Given the description of an element on the screen output the (x, y) to click on. 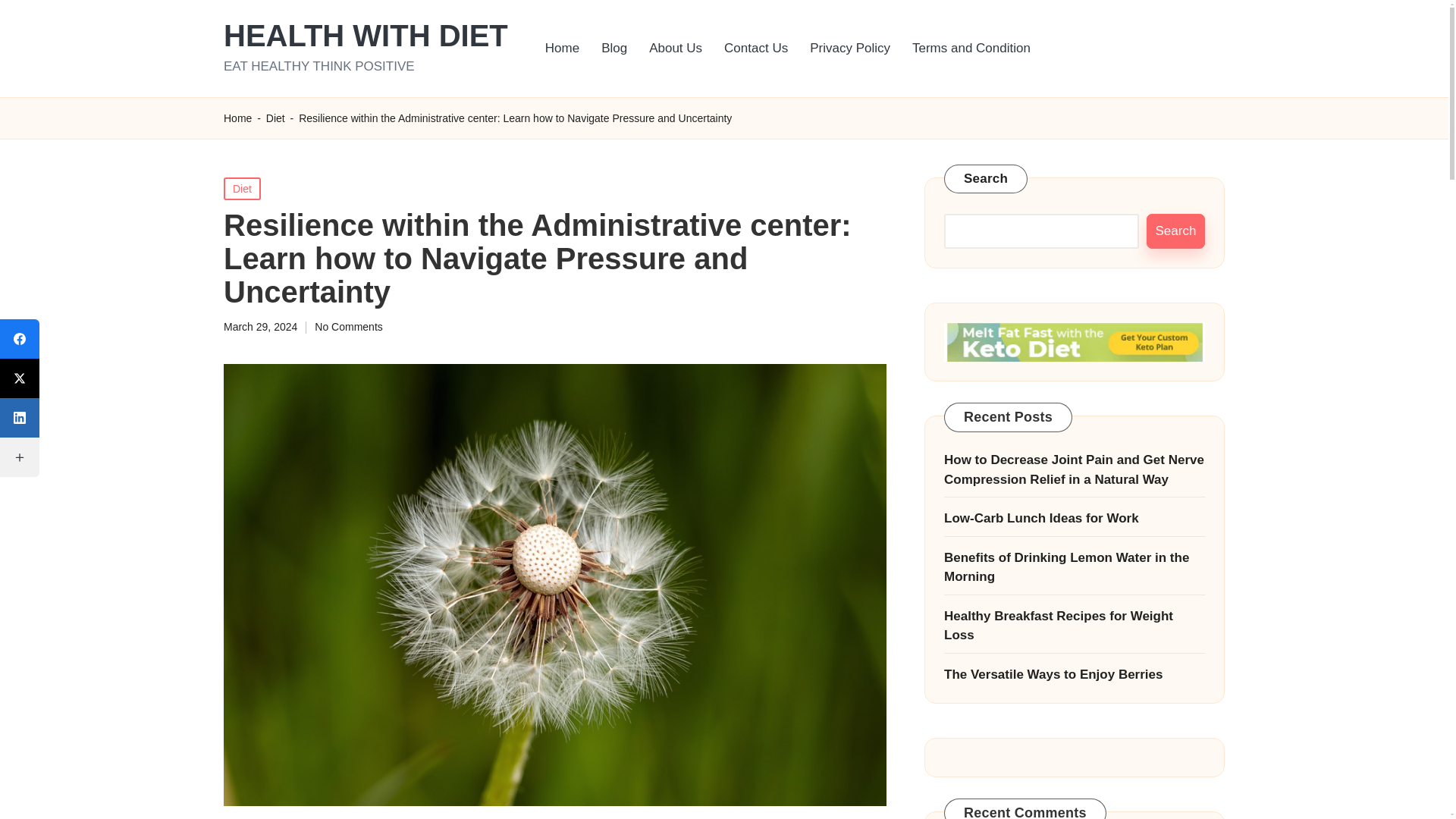
Terms and Condition (971, 48)
About Us (676, 48)
Benefits of Drinking Lemon Water in the Morning (1074, 567)
Privacy Policy (850, 48)
Contact Us (755, 48)
The Versatile Ways to Enjoy Berries (1074, 674)
Home (237, 117)
Diet (275, 117)
Healthy Breakfast Recipes for Weight Loss (1074, 625)
